Given the description of an element on the screen output the (x, y) to click on. 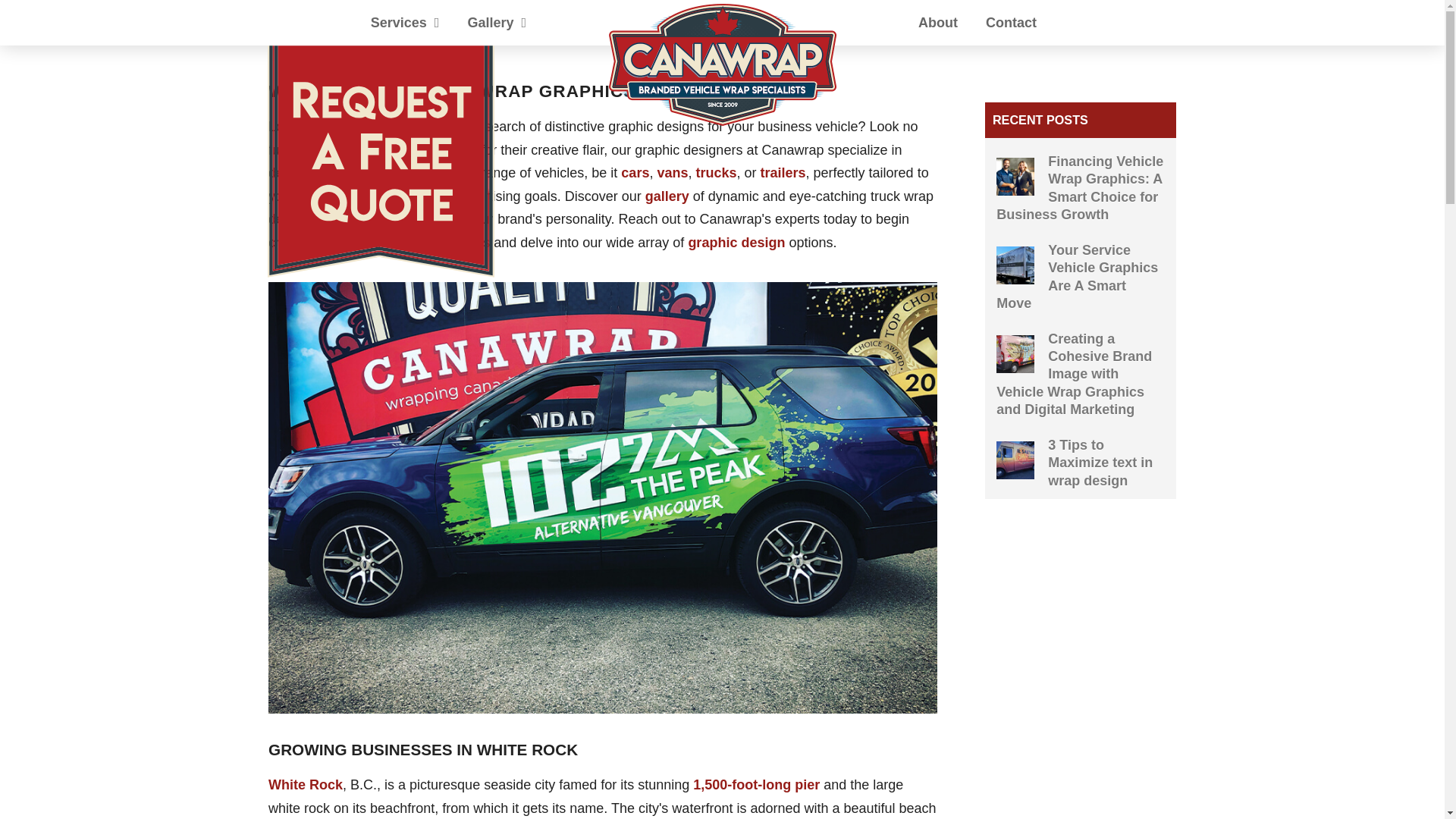
About (937, 22)
Contact (1010, 22)
Gallery (496, 22)
Services (404, 22)
